Given the description of an element on the screen output the (x, y) to click on. 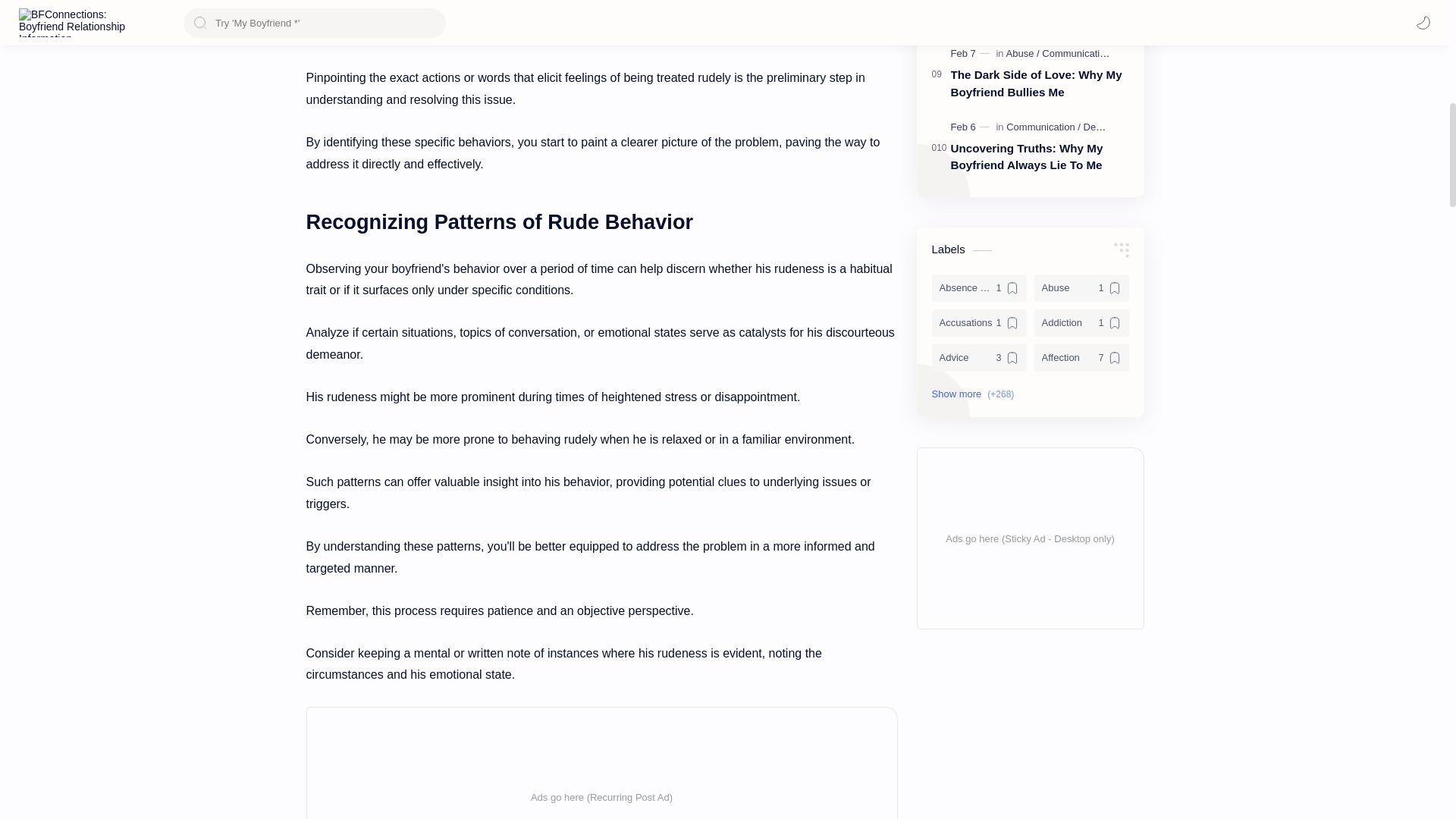
Published: February 6, 2024 (971, 127)
Published: February 7, 2024 (971, 53)
